Given the description of an element on the screen output the (x, y) to click on. 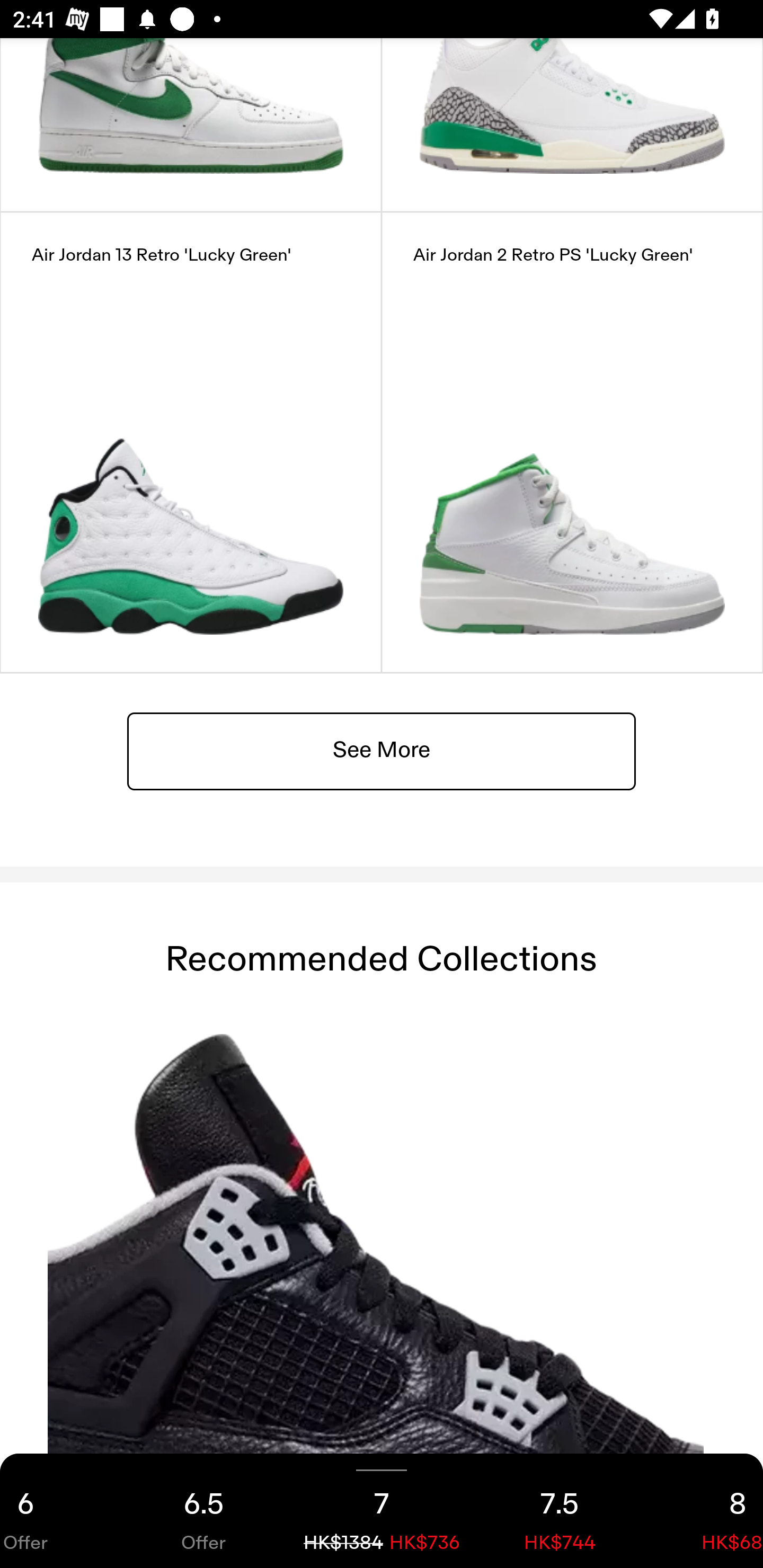
Air Jordan 13 Retro 'Lucky Green' (190, 441)
Air Jordan 2 Retro PS 'Lucky Green' (572, 441)
See More (381, 750)
6 Offer (57, 1510)
6.5 Offer (203, 1510)
7 HK$1384 HK$736 (381, 1510)
7.5 HK$744 (559, 1510)
8 HK$680 (705, 1510)
